Given the description of an element on the screen output the (x, y) to click on. 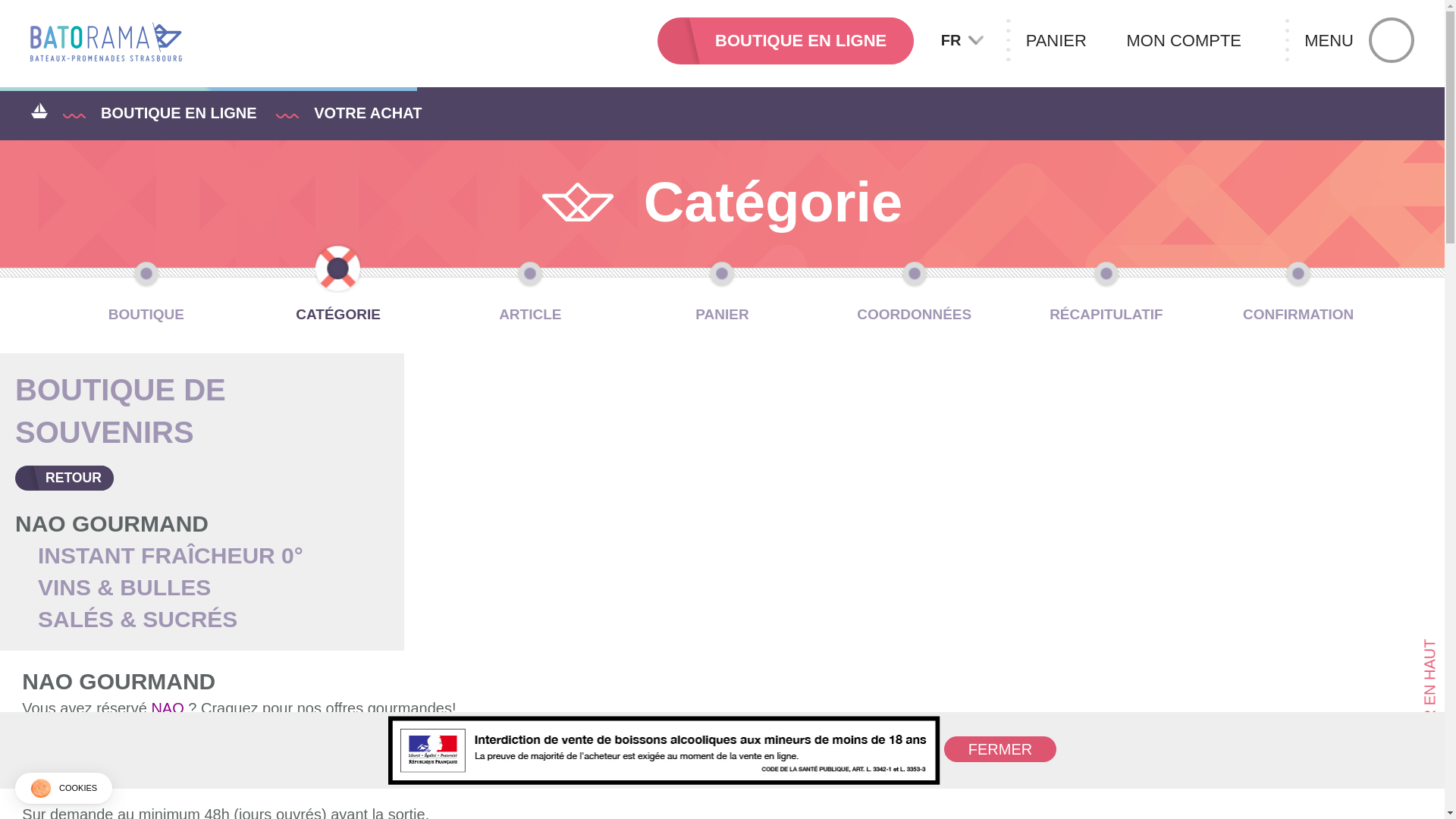
Boutique en ligne (178, 112)
BOUTIQUE EN LIGNE (178, 112)
MON COMPTE (1197, 40)
0 (127, 769)
BOUTIQUE EN LIGNE (786, 40)
NAO GOURMAND (111, 523)
PANIER (1069, 40)
RETOUR (63, 478)
Fermer (1000, 749)
Boutique en ligne (786, 40)
